Given the description of an element on the screen output the (x, y) to click on. 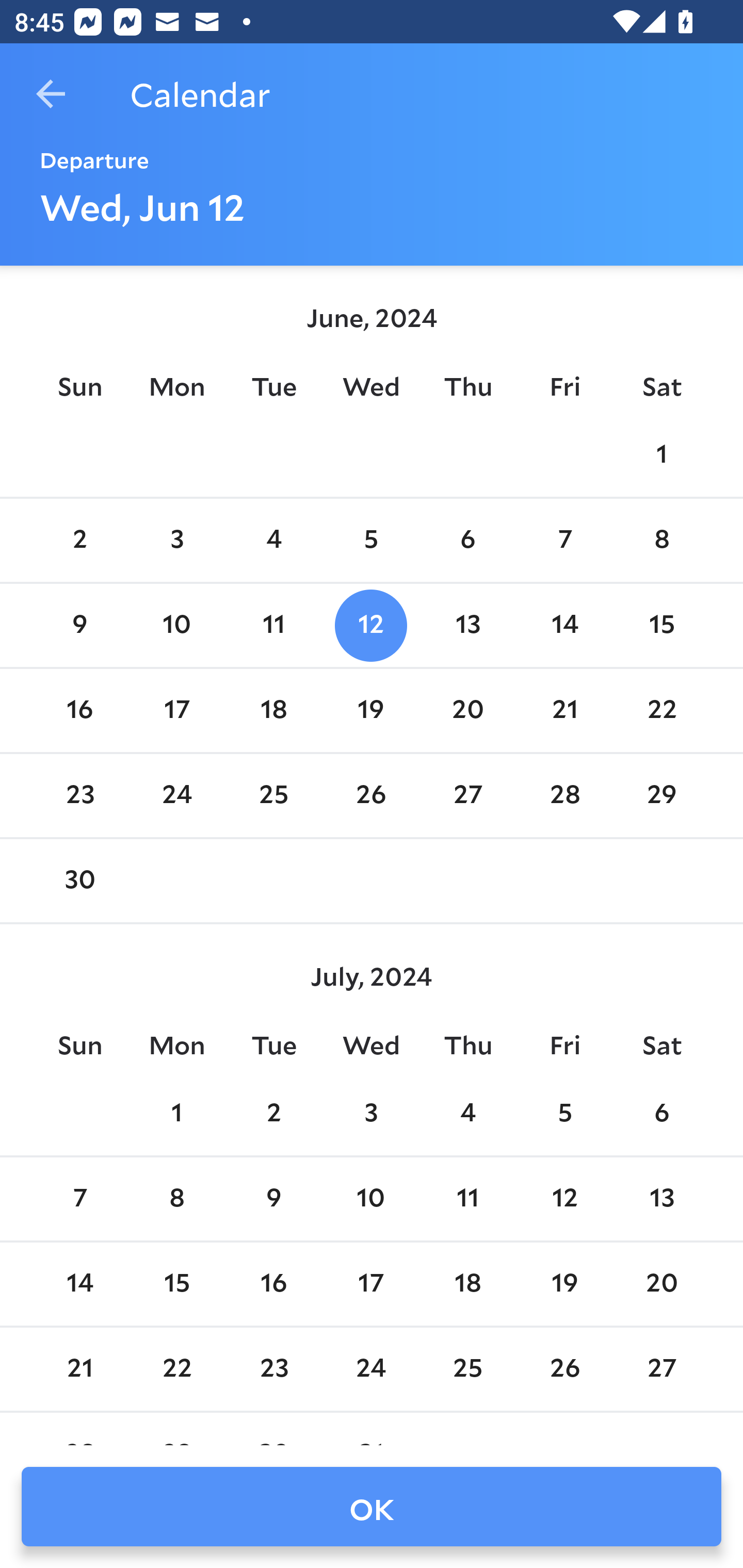
Navigate up (50, 93)
1 (661, 454)
2 (79, 540)
3 (177, 540)
4 (273, 540)
5 (371, 540)
6 (467, 540)
7 (565, 540)
8 (661, 540)
9 (79, 625)
10 (177, 625)
11 (273, 625)
12 (371, 625)
13 (467, 625)
14 (565, 625)
15 (661, 625)
16 (79, 710)
17 (177, 710)
18 (273, 710)
19 (371, 710)
20 (467, 710)
21 (565, 710)
22 (661, 710)
23 (79, 796)
24 (177, 796)
25 (273, 796)
26 (371, 796)
27 (467, 796)
28 (565, 796)
29 (661, 796)
30 (79, 881)
1 (177, 1114)
2 (273, 1114)
3 (371, 1114)
4 (467, 1114)
5 (565, 1114)
6 (661, 1114)
7 (79, 1199)
8 (177, 1199)
9 (273, 1199)
10 (371, 1199)
11 (467, 1199)
12 (565, 1199)
13 (661, 1199)
14 (79, 1284)
15 (177, 1284)
16 (273, 1284)
17 (371, 1284)
18 (467, 1284)
19 (565, 1284)
20 (661, 1284)
21 (79, 1368)
22 (177, 1368)
23 (273, 1368)
24 (371, 1368)
25 (467, 1368)
26 (565, 1368)
27 (661, 1368)
OK (371, 1506)
